Given the description of an element on the screen output the (x, y) to click on. 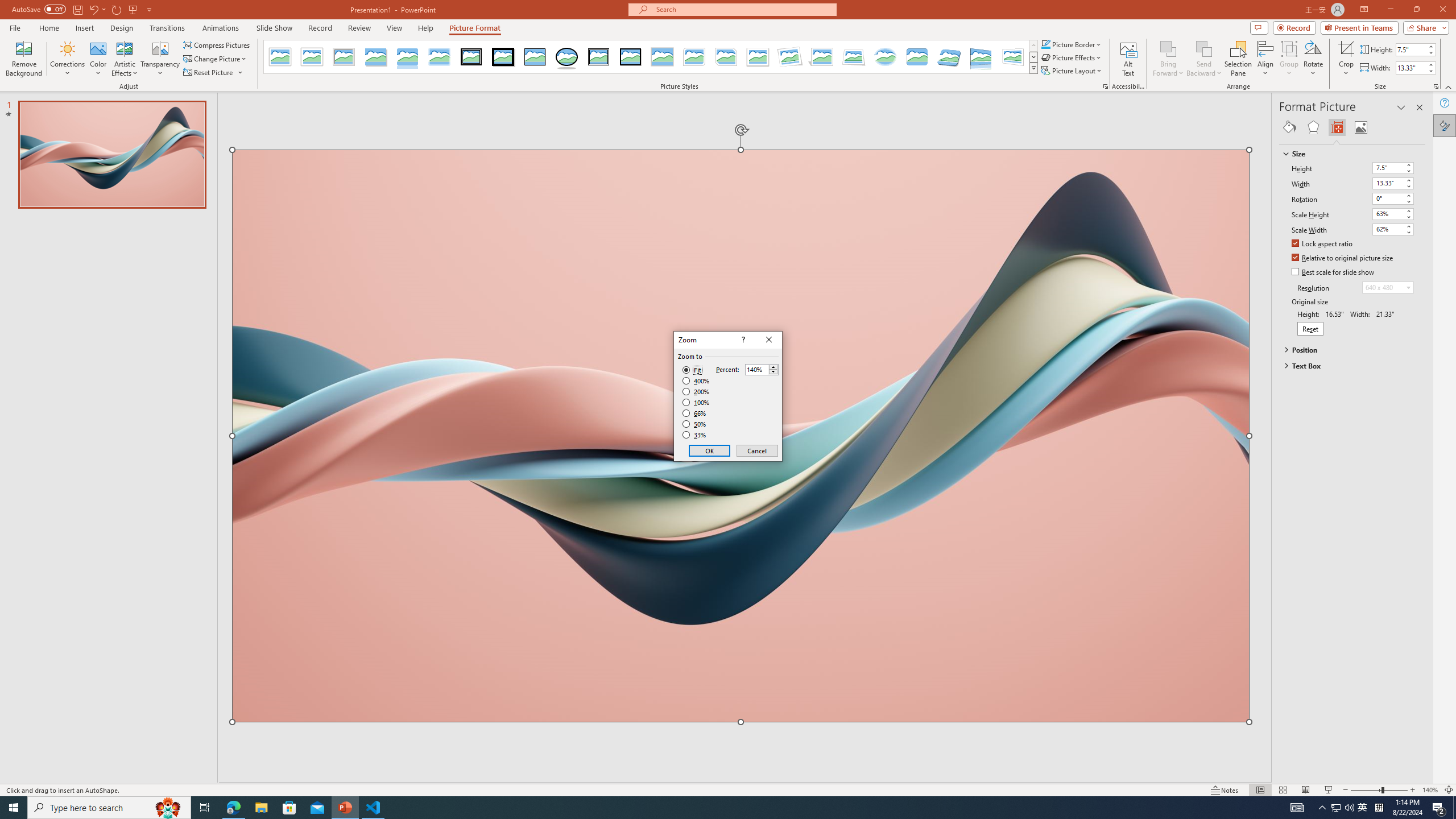
Reflected Rounded Rectangle (407, 56)
Relaxed Perspective, White (853, 56)
Soft Edge Oval (885, 56)
Rotate (1312, 58)
Crop (1345, 48)
Picture Effects (1072, 56)
200% (696, 391)
Compress Pictures... (217, 44)
Percent (761, 369)
